Given the description of an element on the screen output the (x, y) to click on. 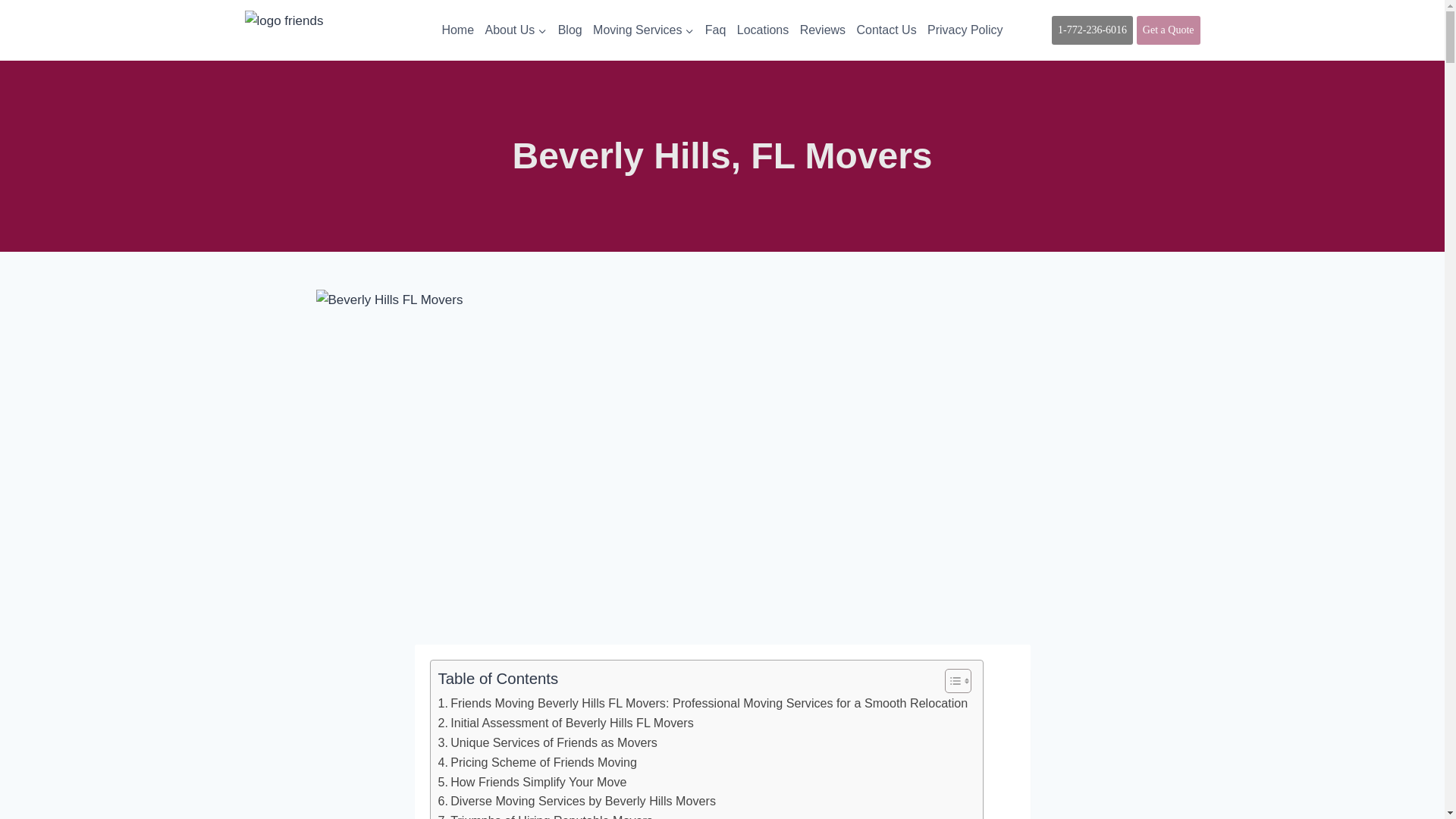
Privacy Policy (965, 29)
Locations (763, 29)
Get a Quote (1168, 30)
Diverse Moving Services by Beverly Hills Movers (577, 801)
1-772-236-6016 (1091, 30)
Diverse Moving Services by Beverly Hills Movers (577, 801)
Pricing Scheme of Friends Moving (537, 762)
How Friends Simplify Your Move (532, 782)
How Friends Simplify Your Move (532, 782)
Initial Assessment of Beverly Hills FL Movers (566, 723)
Reviews (821, 29)
Triumphs of Hiring Reputable Movers (545, 815)
Moving Services (644, 29)
Initial Assessment of Beverly Hills FL Movers (566, 723)
